Given the description of an element on the screen output the (x, y) to click on. 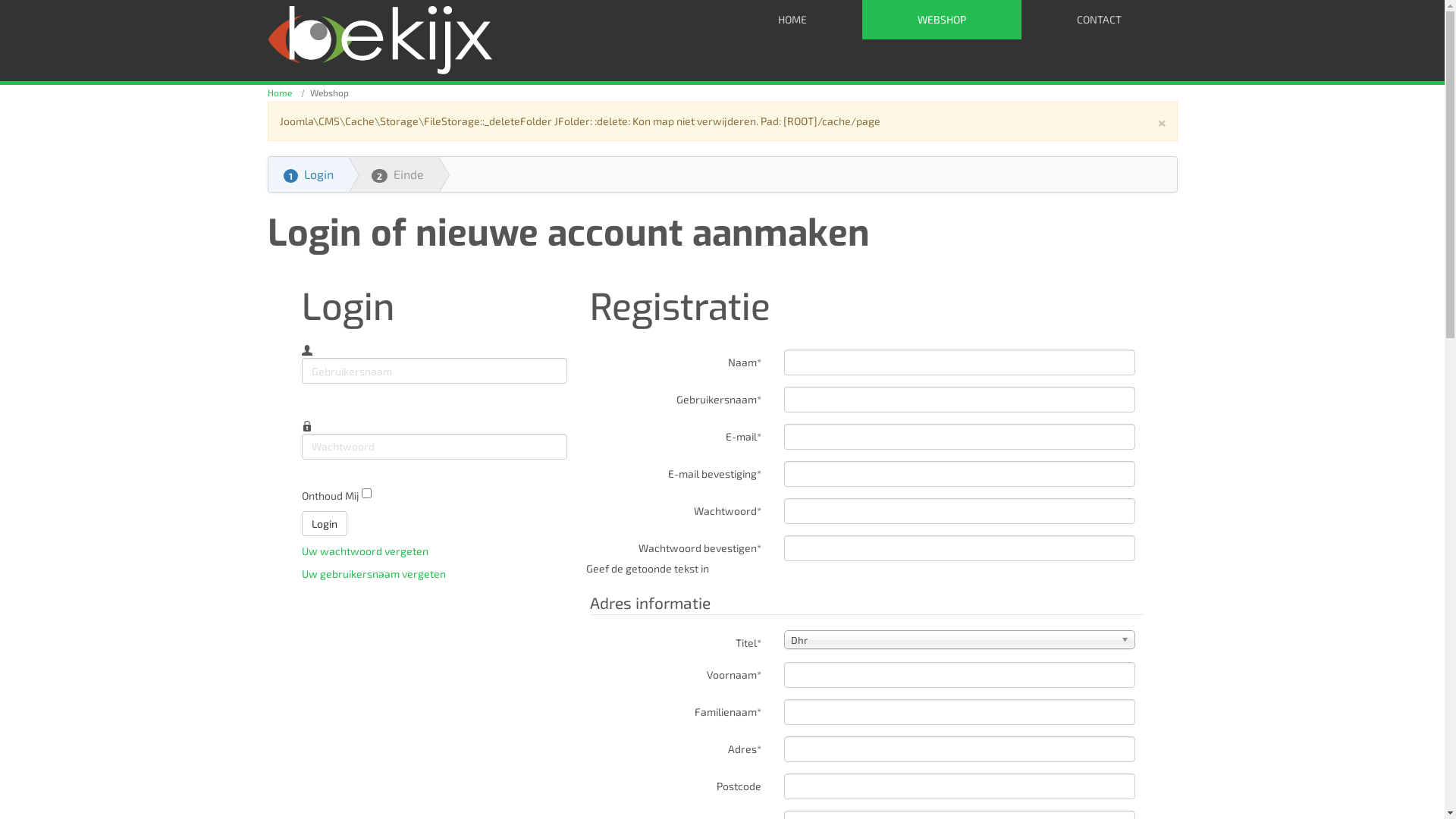
CONTACT Element type: text (1098, 19)
Wachtwoord Element type: hover (306, 425)
Home Element type: text (278, 92)
HOME Element type: text (791, 19)
Uw wachtwoord vergeten Element type: text (364, 550)
WEBSHOP Element type: text (941, 19)
Gebruikersnaam Element type: hover (306, 350)
Login Element type: text (324, 523)
Uw gebruikersnaam vergeten Element type: text (373, 573)
Dhr Element type: text (959, 639)
